Given the description of an element on the screen output the (x, y) to click on. 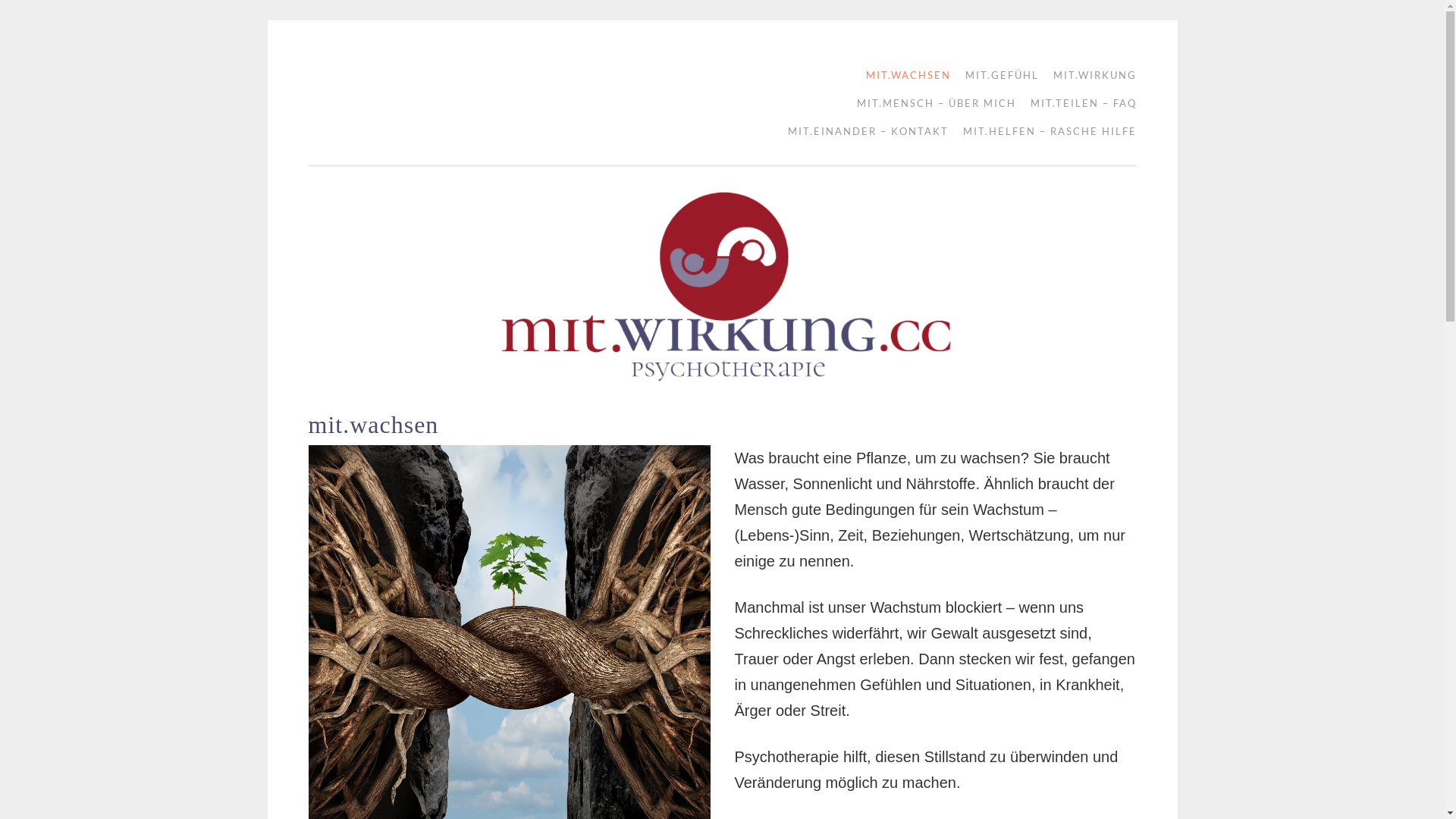
mit.wirkung.cc | psychotherapie Element type: text (387, 92)
MIT.WIRKUNG Element type: text (1088, 75)
Springe zum Inhalt Element type: text (357, 71)
MIT.WACHSEN Element type: text (902, 75)
